Given the description of an element on the screen output the (x, y) to click on. 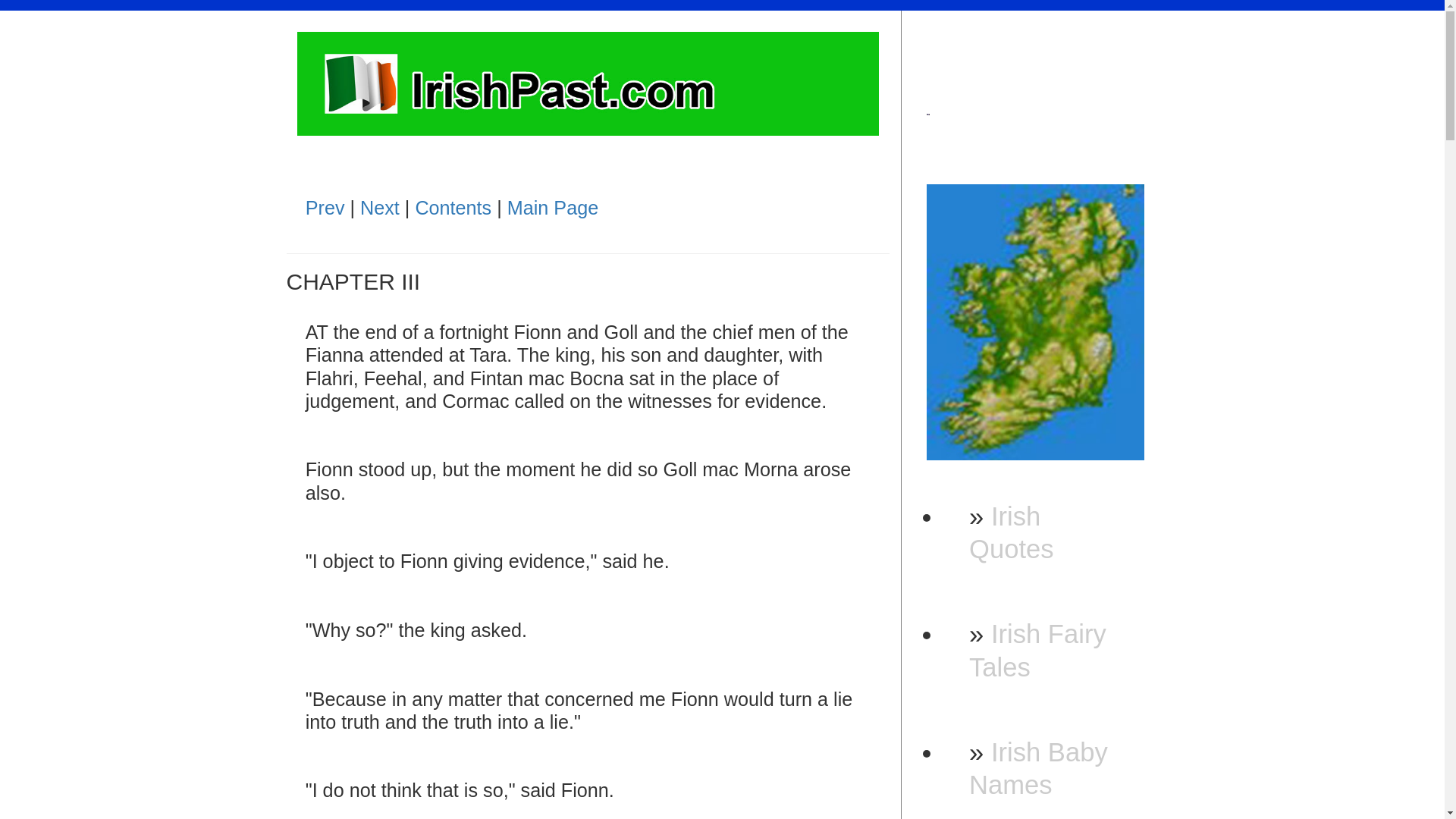
Irish Baby Names (1038, 768)
Contents (453, 207)
Next (378, 207)
Prev (325, 207)
eXTReMe Tracker - Free Website Statistics (1035, 121)
Irish Fairy Tales (1037, 649)
Main Page (552, 207)
Irish Quotes (1010, 532)
